Given the description of an element on the screen output the (x, y) to click on. 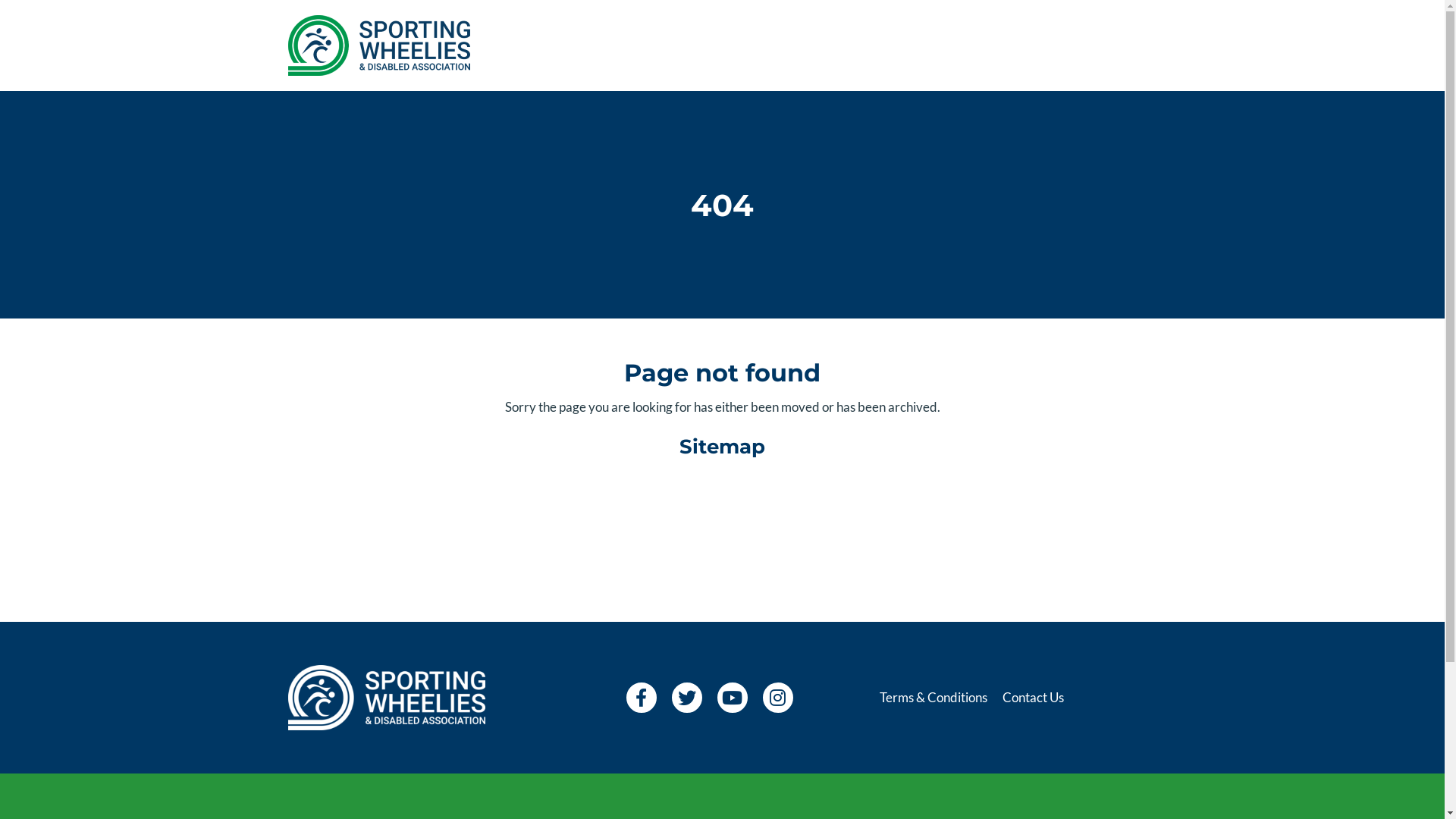
Terms & Conditions Element type: text (933, 697)
Contact Us Element type: text (1032, 697)
